Given the description of an element on the screen output the (x, y) to click on. 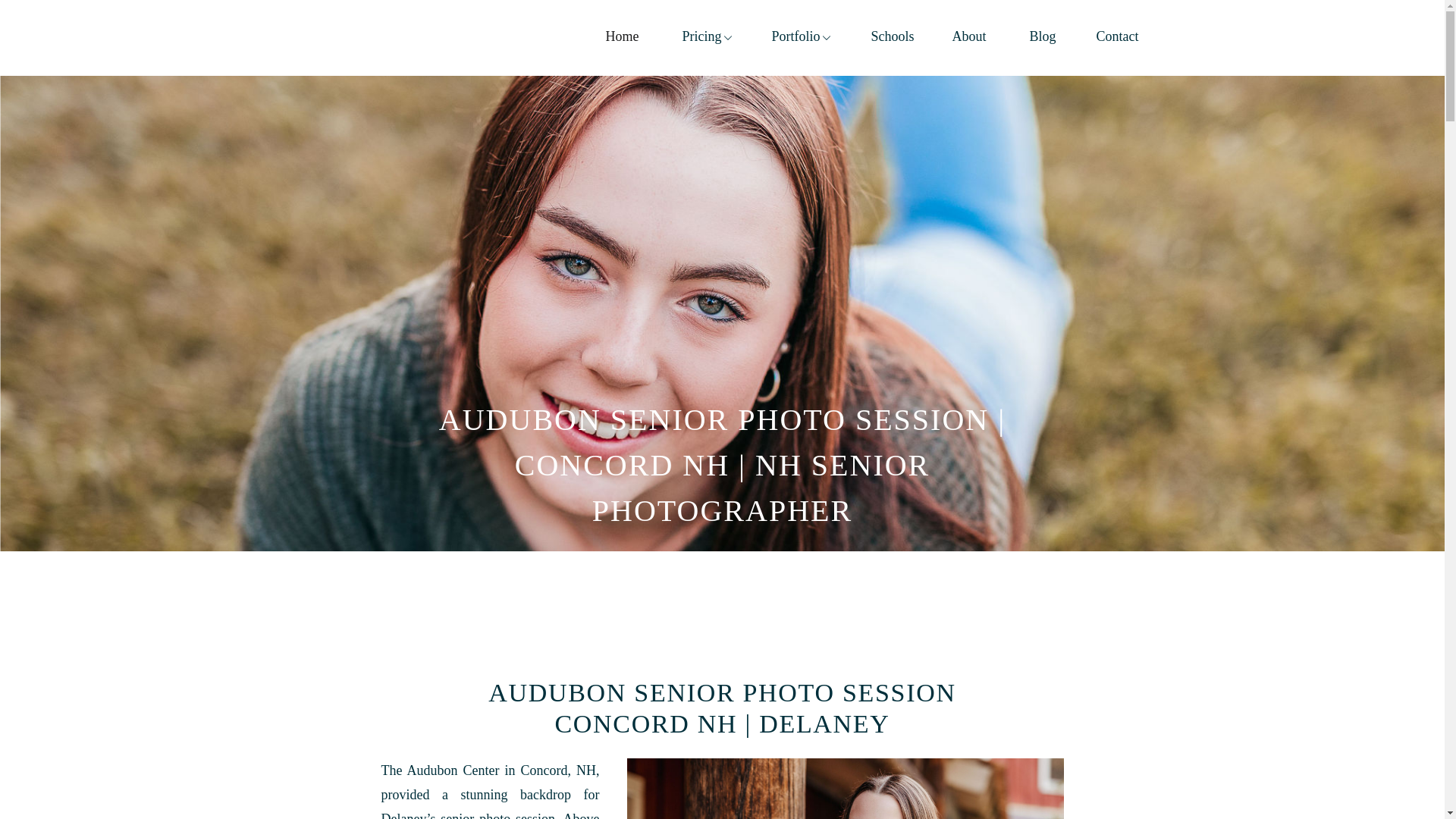
Portfolio (801, 38)
About (971, 38)
Schools (890, 38)
Home (623, 38)
Contact (1119, 38)
Blog (1043, 38)
Pricing (707, 38)
